Given the description of an element on the screen output the (x, y) to click on. 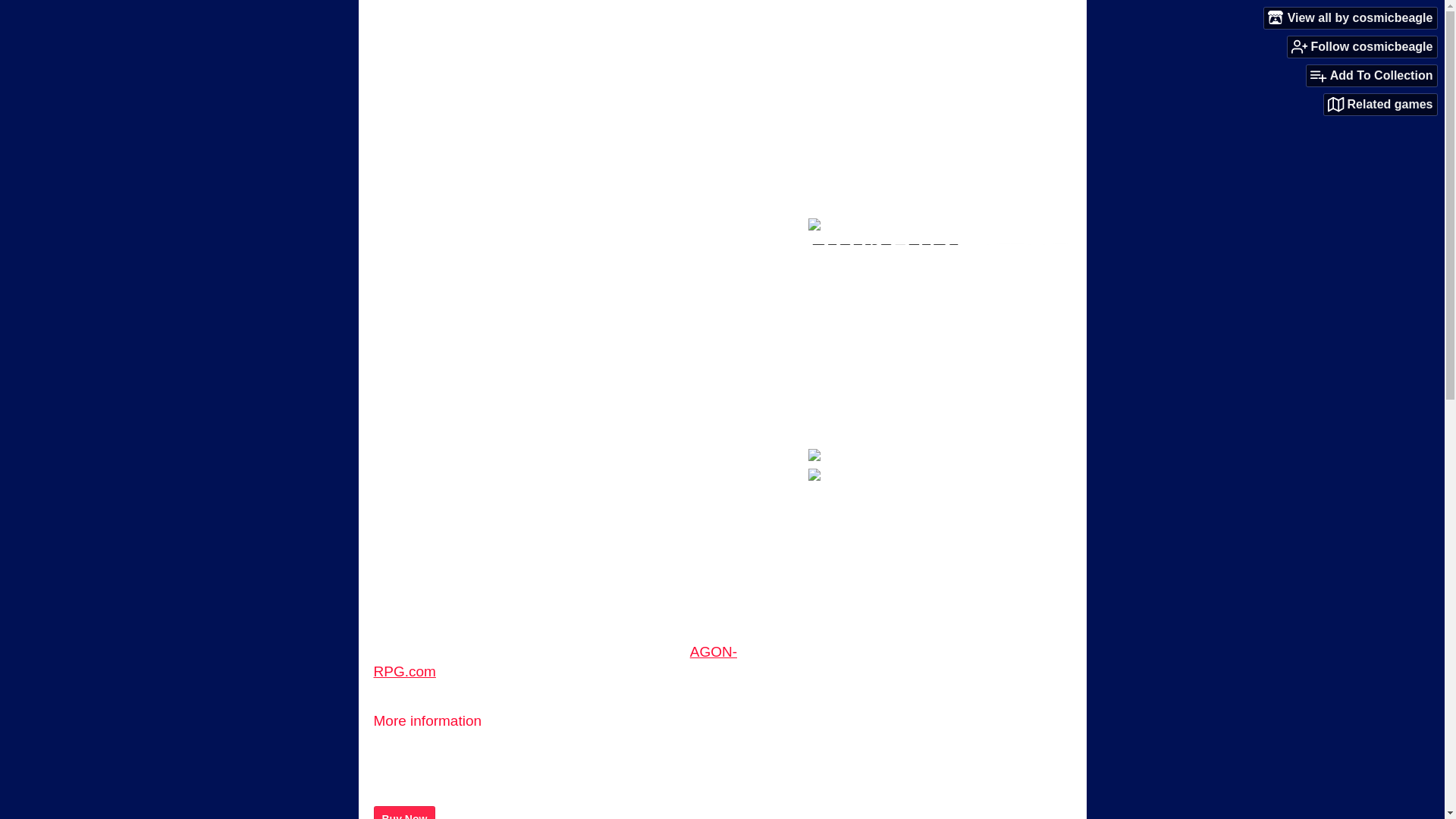
Related games (1380, 104)
Follow cosmicbeagle (1362, 46)
Add To Collection (1371, 75)
Buy Now (403, 812)
View all by cosmicbeagle (1350, 17)
AGON-RPG.com (554, 661)
More information (433, 720)
